Given the description of an element on the screen output the (x, y) to click on. 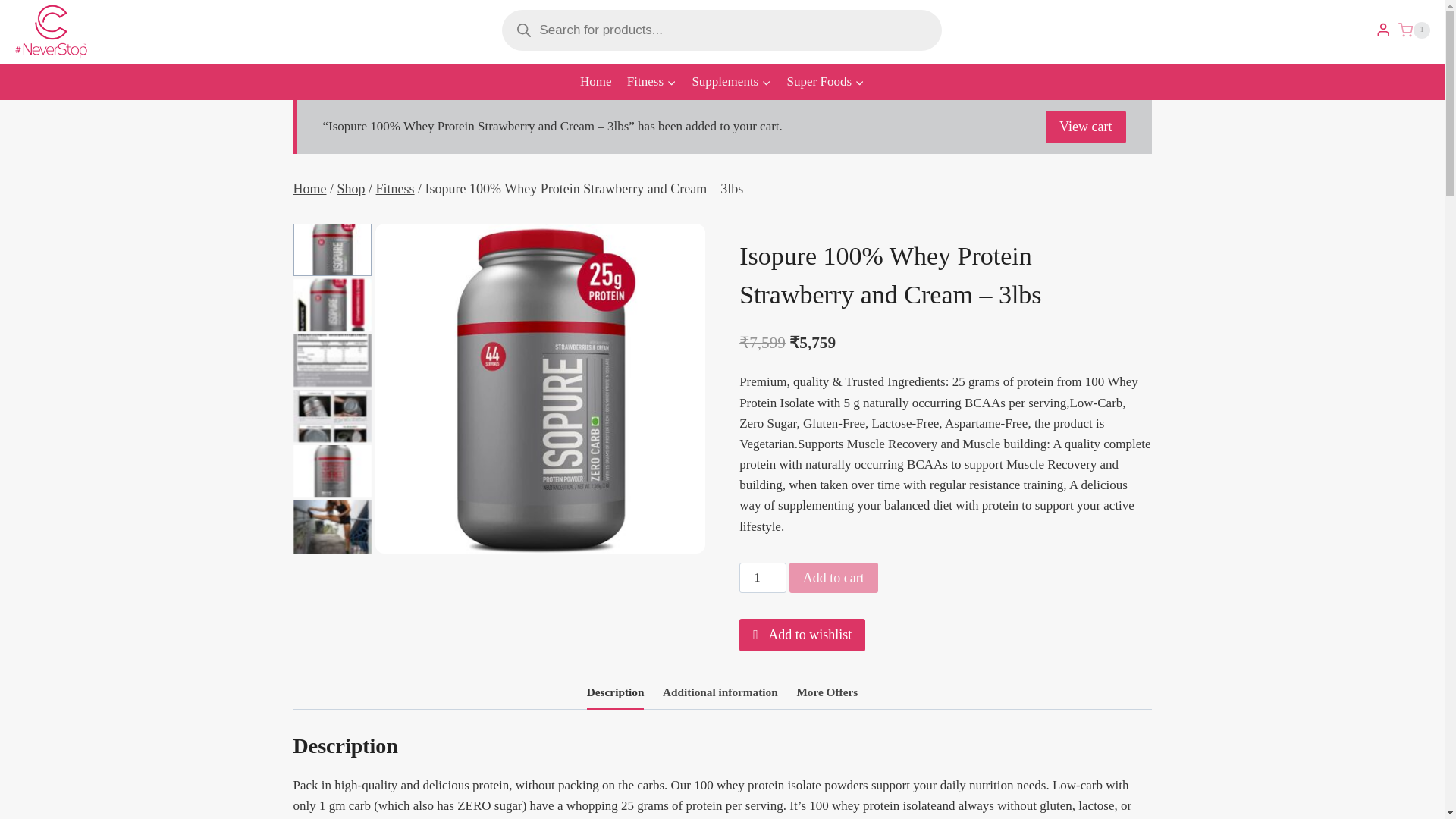
1 (1413, 30)
Home (596, 81)
Home (309, 188)
Supplements (731, 81)
Fitness (652, 81)
View cart (1085, 126)
Super Foods (825, 81)
1 (762, 577)
